Given the description of an element on the screen output the (x, y) to click on. 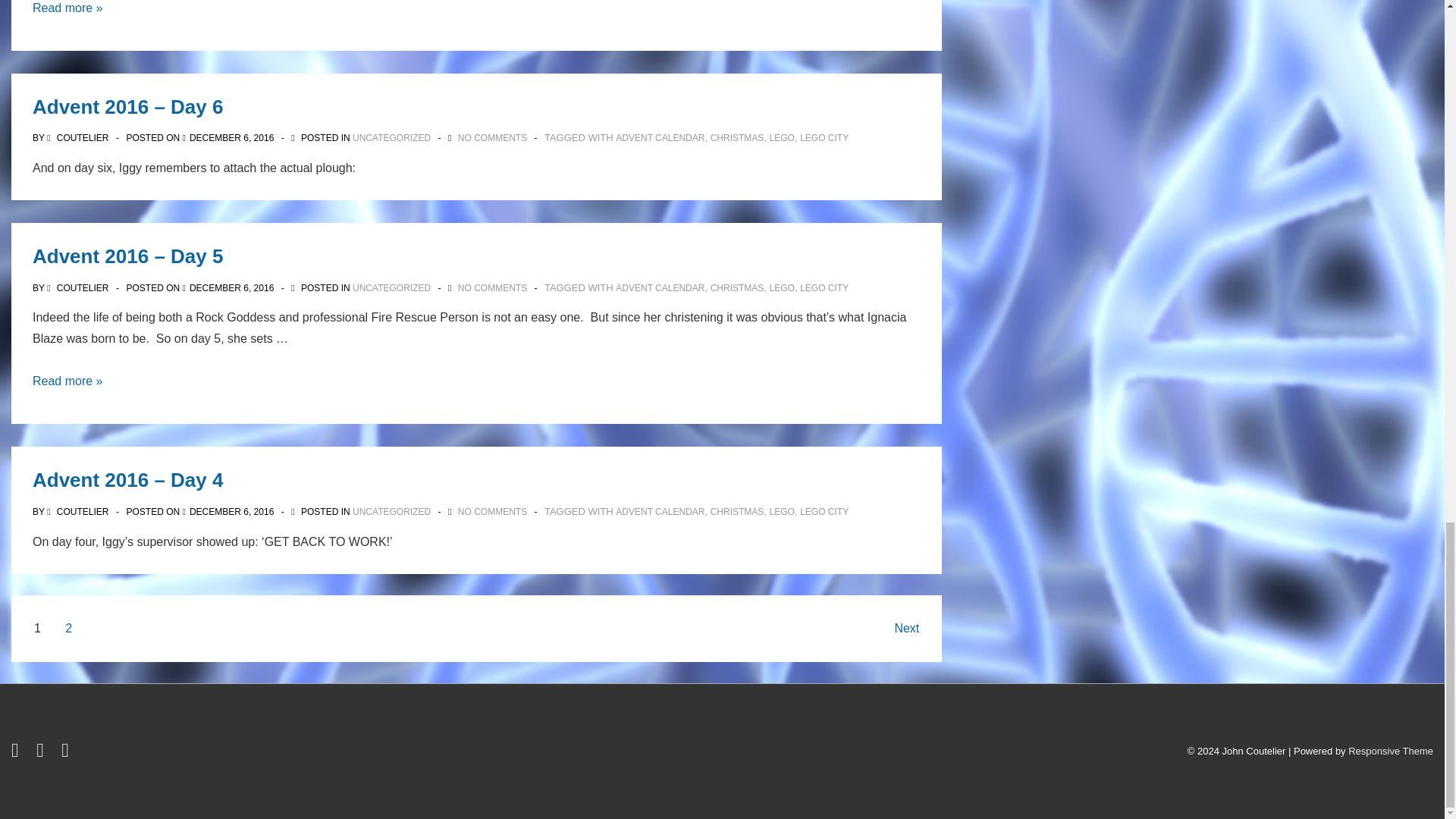
View all posts by Coutelier (79, 137)
